Given the description of an element on the screen output the (x, y) to click on. 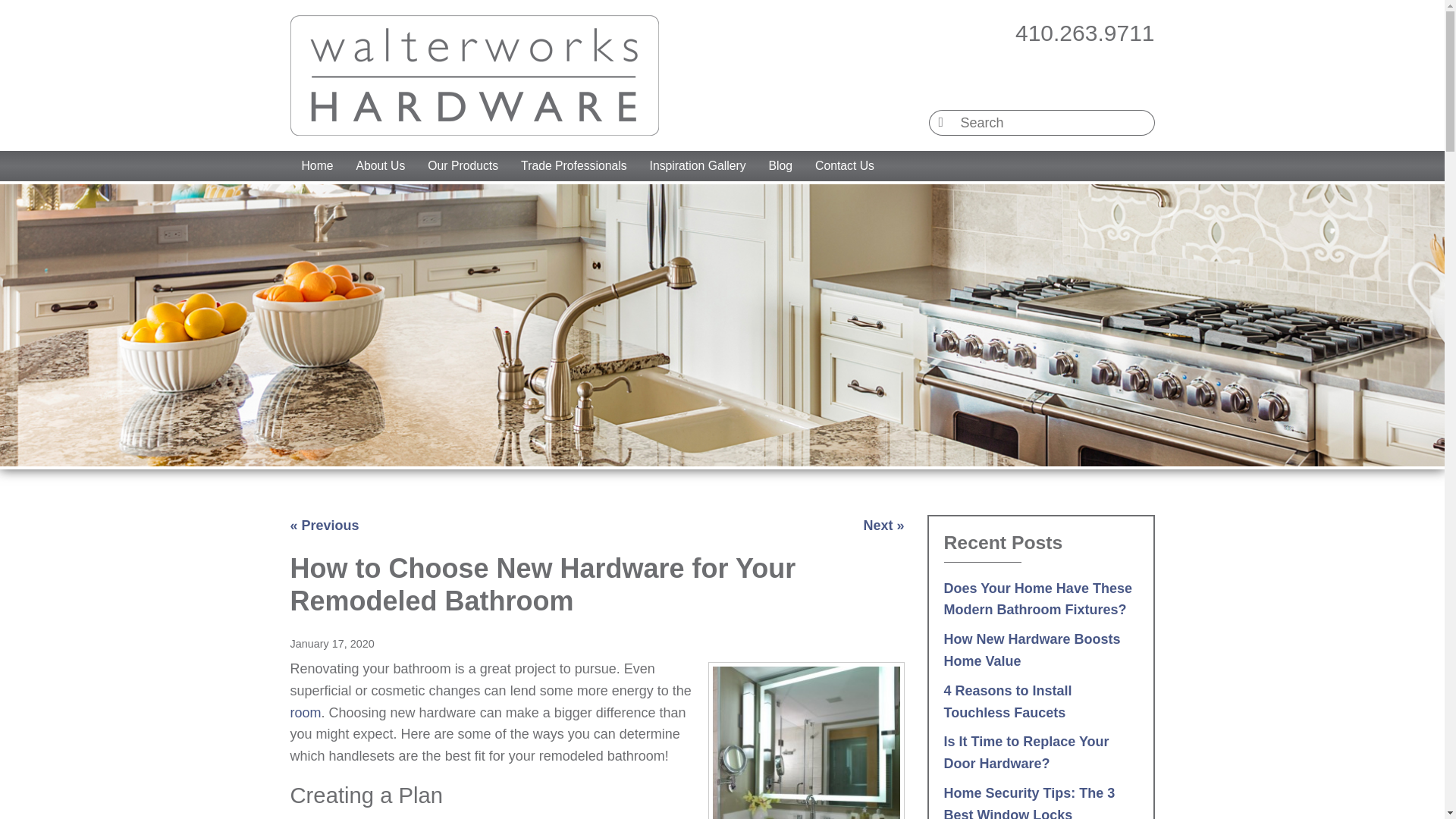
Blog (781, 165)
Home (316, 165)
Inspiration Gallery (698, 165)
Trade Professionals (573, 165)
WalterWorks Hardware (473, 75)
Our Products (462, 165)
410.263.9711 (1084, 32)
room (304, 712)
Contact Us (844, 165)
About Us (380, 165)
